Given the description of an element on the screen output the (x, y) to click on. 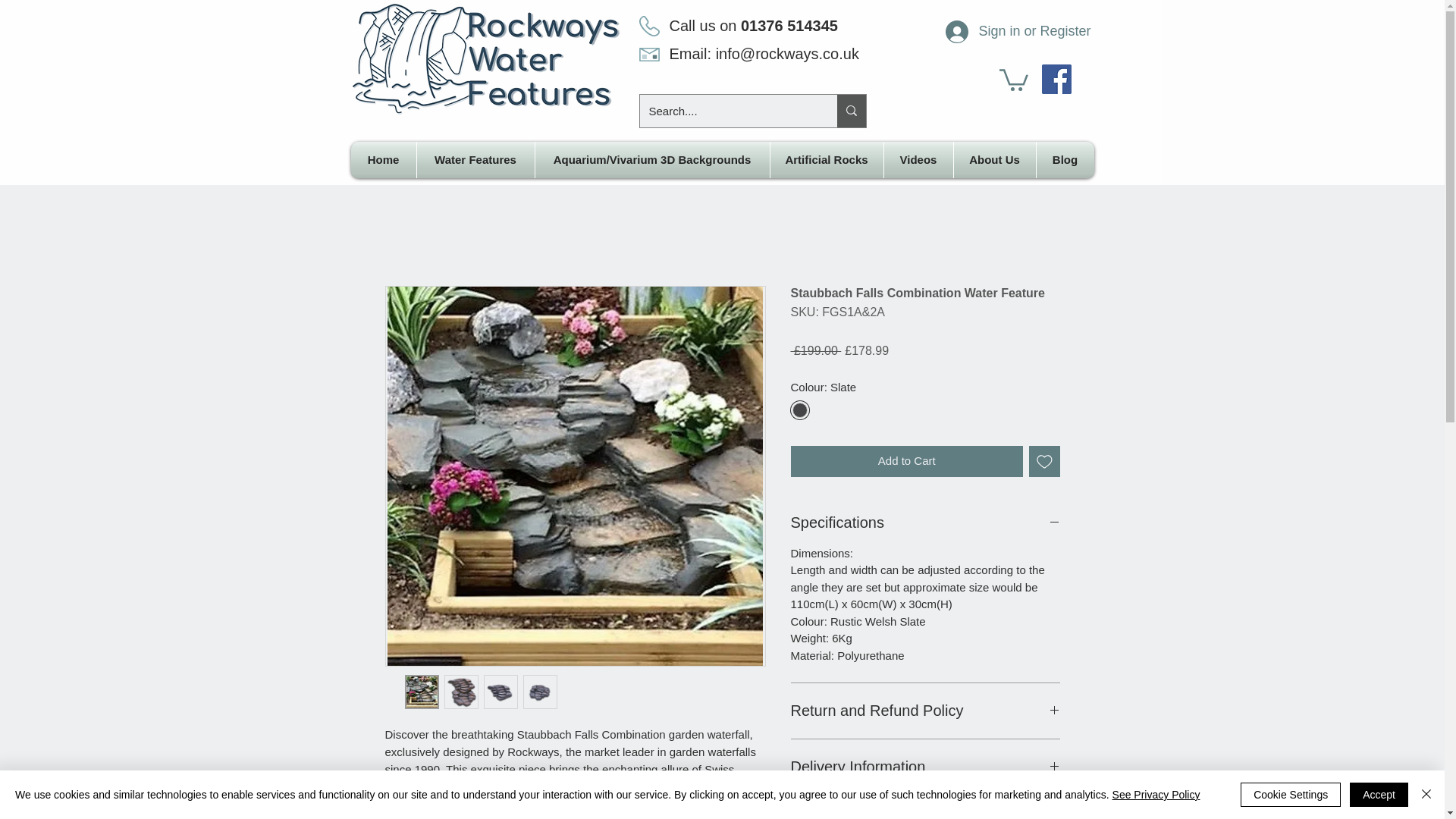
Specifications (924, 522)
Sign in or Register (1002, 31)
Home (382, 159)
Add to Cart (906, 460)
Return and Refund Policy (924, 710)
Installation Document (924, 816)
Water Features (475, 159)
Blog (1064, 159)
About Us (994, 159)
Artificial Rocks (826, 159)
Videos (918, 159)
Delivery Information (924, 766)
